Given the description of an element on the screen output the (x, y) to click on. 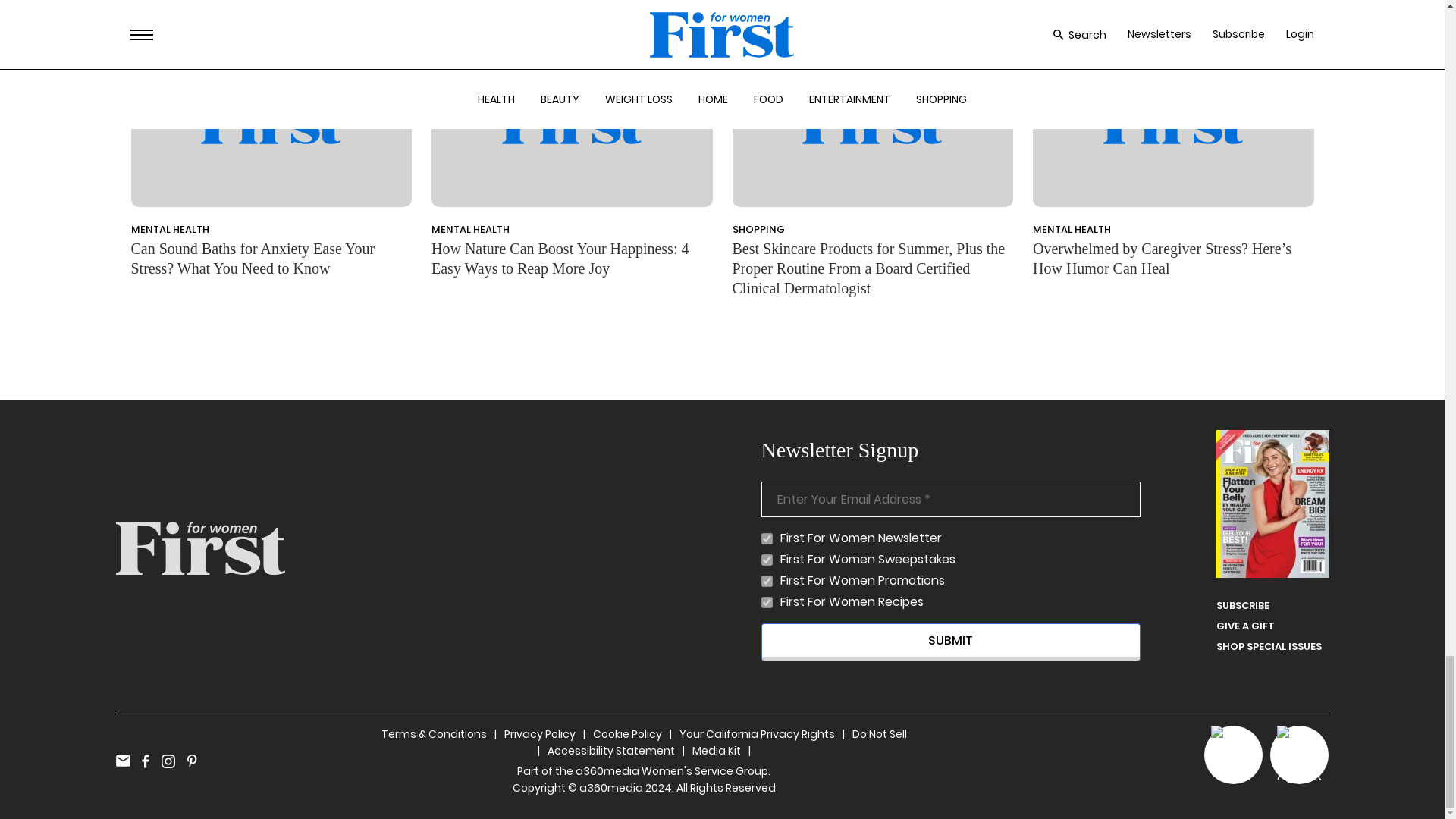
1 (767, 581)
1 (767, 559)
1 (767, 538)
1 (767, 602)
